Given the description of an element on the screen output the (x, y) to click on. 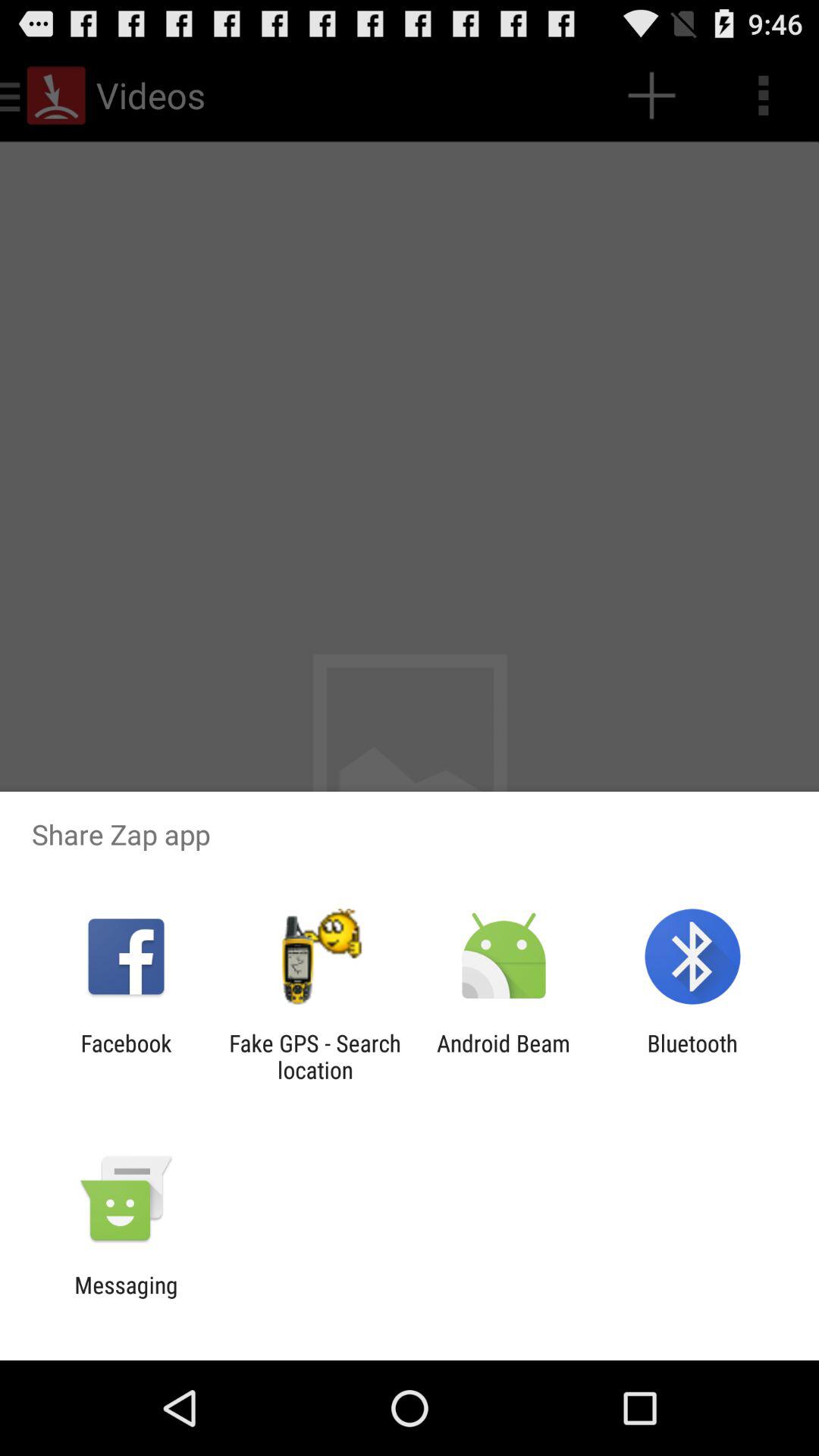
jump until the messaging (126, 1298)
